Given the description of an element on the screen output the (x, y) to click on. 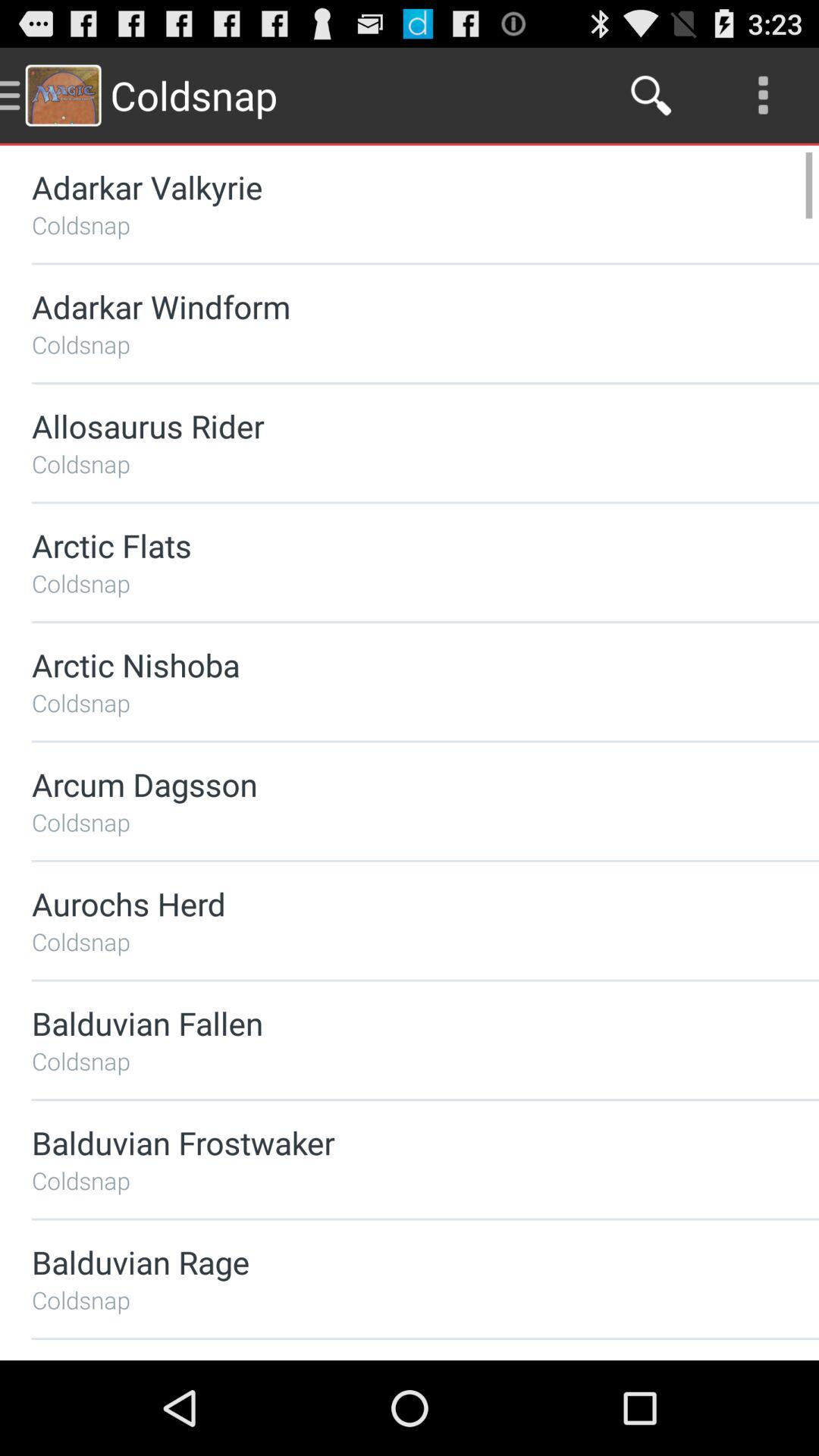
launch icon above coldsnap item (385, 1261)
